Given the description of an element on the screen output the (x, y) to click on. 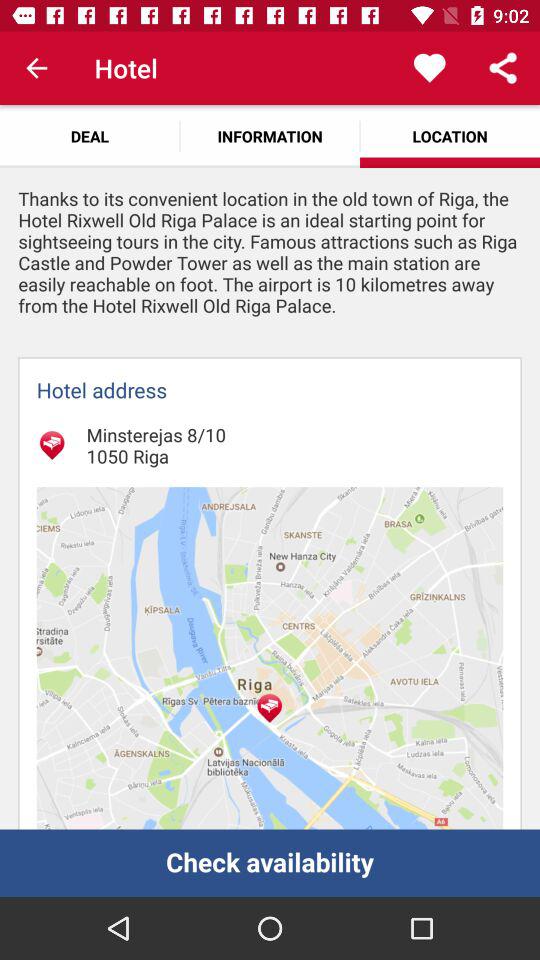
turn on the item to the left of the location icon (270, 136)
